Given the description of an element on the screen output the (x, y) to click on. 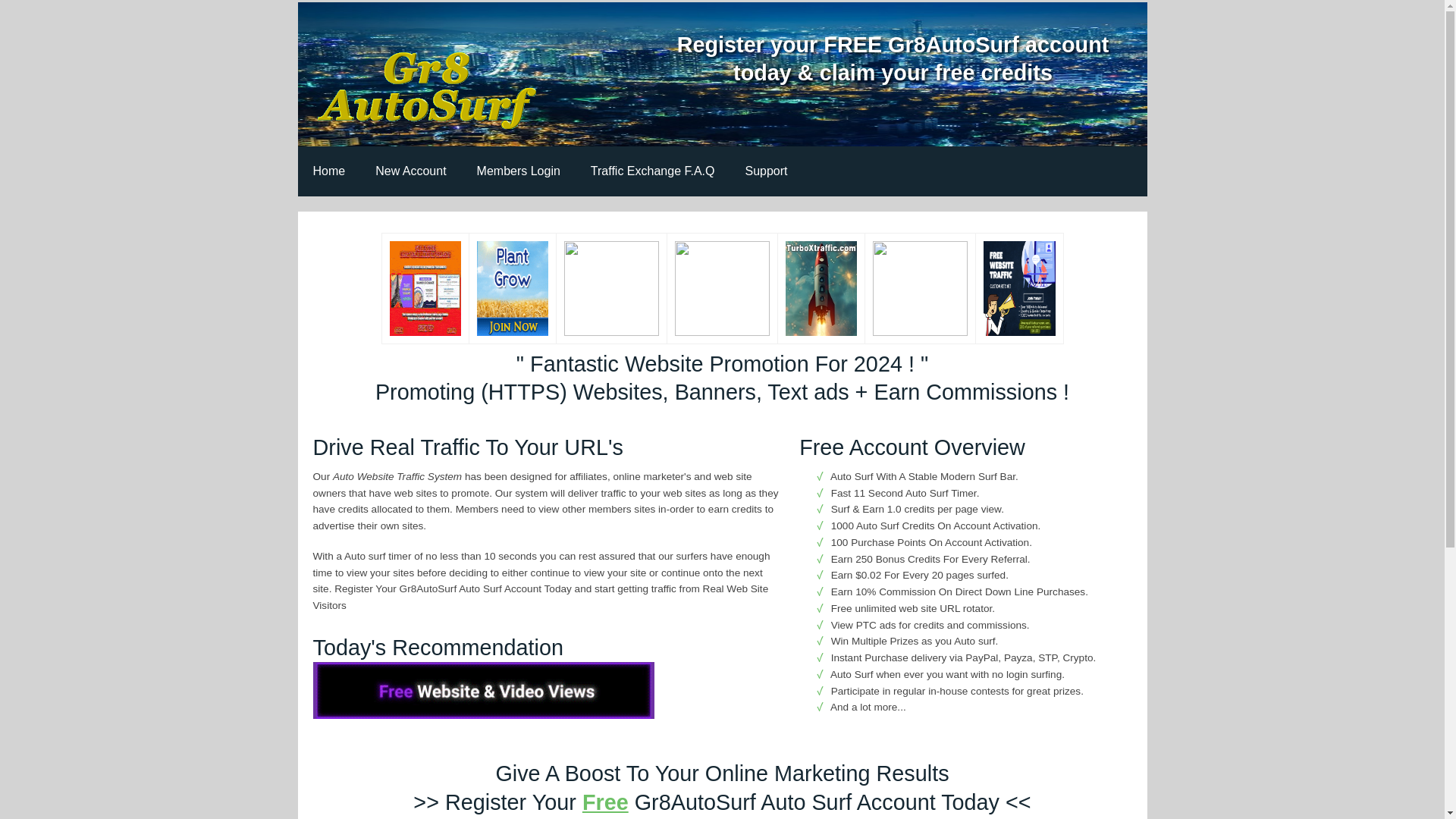
Traffic Exchange F.A.Q (652, 171)
Members Login (518, 171)
New Account (410, 171)
Support (765, 171)
Home (328, 171)
